Given the description of an element on the screen output the (x, y) to click on. 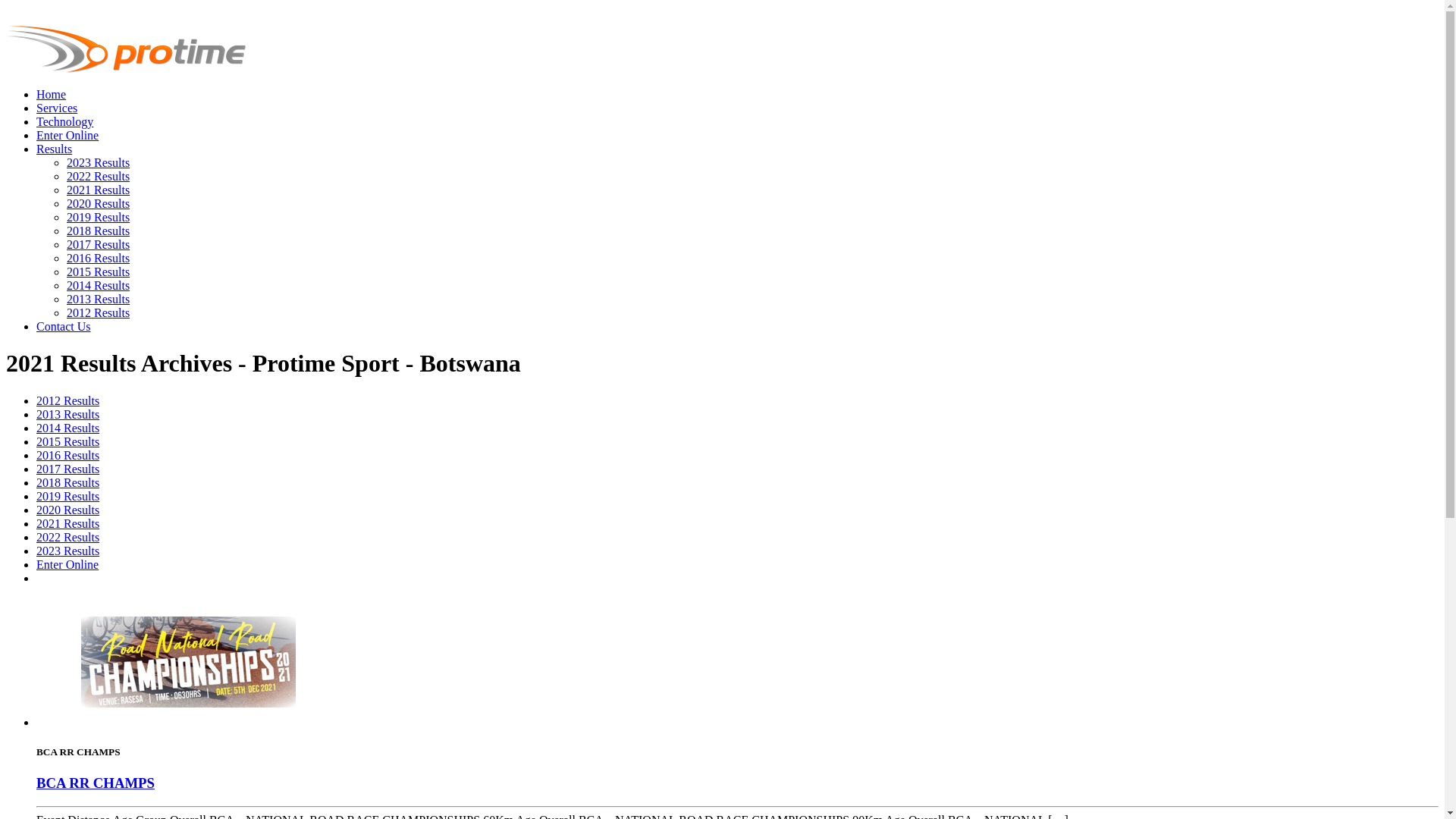
2015 Results Element type: text (97, 271)
Home Element type: text (50, 93)
2016 Results Element type: text (97, 257)
2022 Results Element type: text (97, 175)
Enter Online Element type: text (67, 564)
2017 Results Element type: text (97, 244)
Protime Sport - Botswana Element type: hover (125, 68)
Results Element type: text (54, 148)
2021 Results Element type: text (97, 189)
2015 Results Element type: text (67, 441)
Contact Us Element type: text (63, 326)
2019 Results Element type: text (67, 495)
2012 Results Element type: text (67, 400)
2014 Results Element type: text (97, 285)
BCA RR CHAMPS Element type: text (95, 782)
2018 Results Element type: text (97, 230)
2019 Results Element type: text (97, 216)
2012 Results Element type: text (97, 312)
2022 Results Element type: text (67, 536)
2013 Results Element type: text (67, 413)
2023 Results Element type: text (67, 550)
2013 Results Element type: text (97, 298)
2020 Results Element type: text (67, 509)
Services Element type: text (56, 107)
2021 Results Element type: text (67, 523)
Technology Element type: text (64, 121)
Enter Online Element type: text (67, 134)
2018 Results Element type: text (67, 482)
2017 Results Element type: text (67, 468)
2014 Results Element type: text (67, 427)
2023 Results Element type: text (97, 162)
2020 Results Element type: text (97, 203)
2016 Results Element type: text (67, 454)
